Given the description of an element on the screen output the (x, y) to click on. 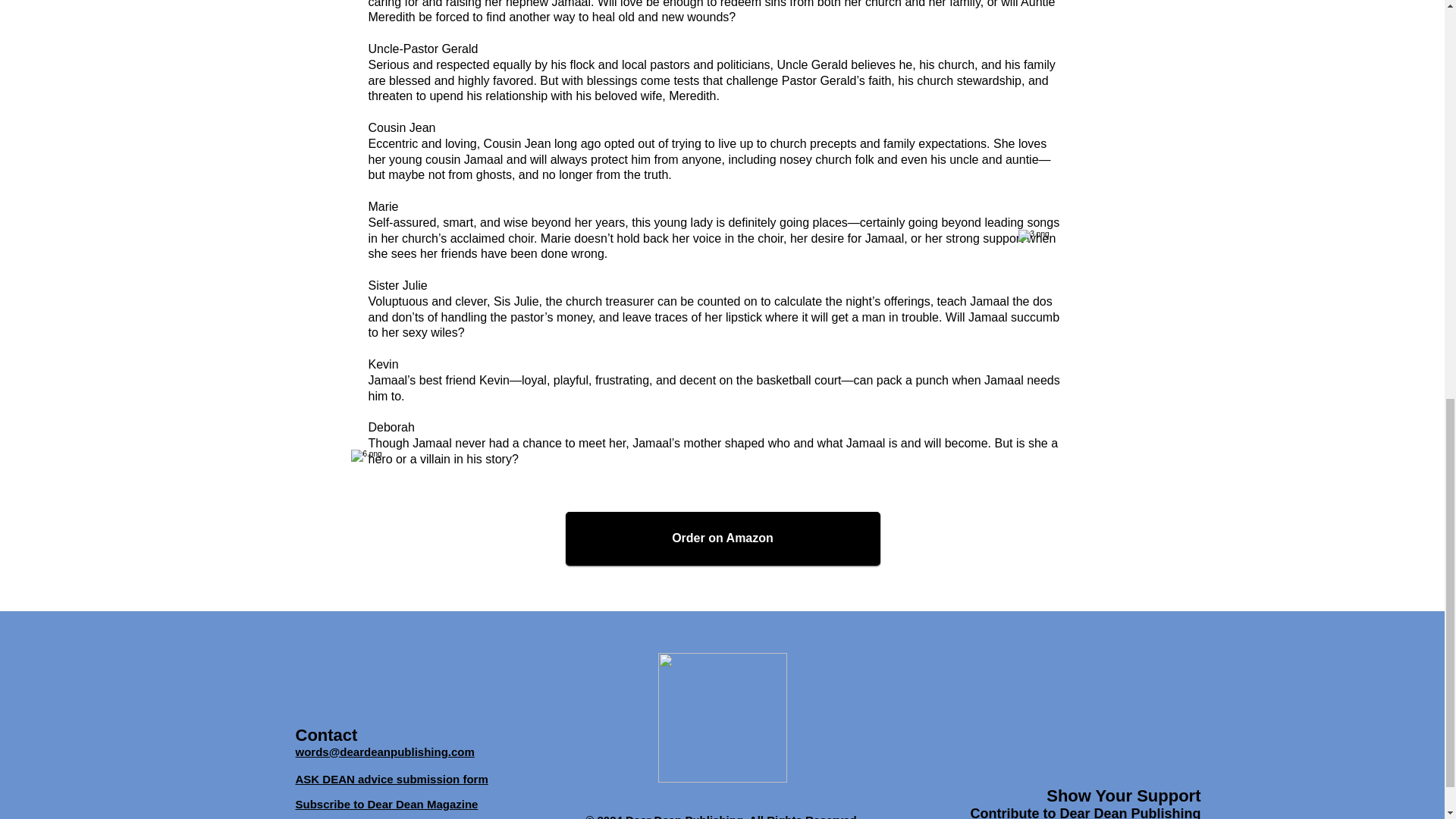
ASK DEAN advice submission form (391, 778)
Subscribe to Dear Dean Magazine (387, 803)
Order on Amazon (723, 538)
Show Your Support (1122, 794)
Contribute to Dear Dean Publishing (1084, 812)
Contact (326, 733)
